Given the description of an element on the screen output the (x, y) to click on. 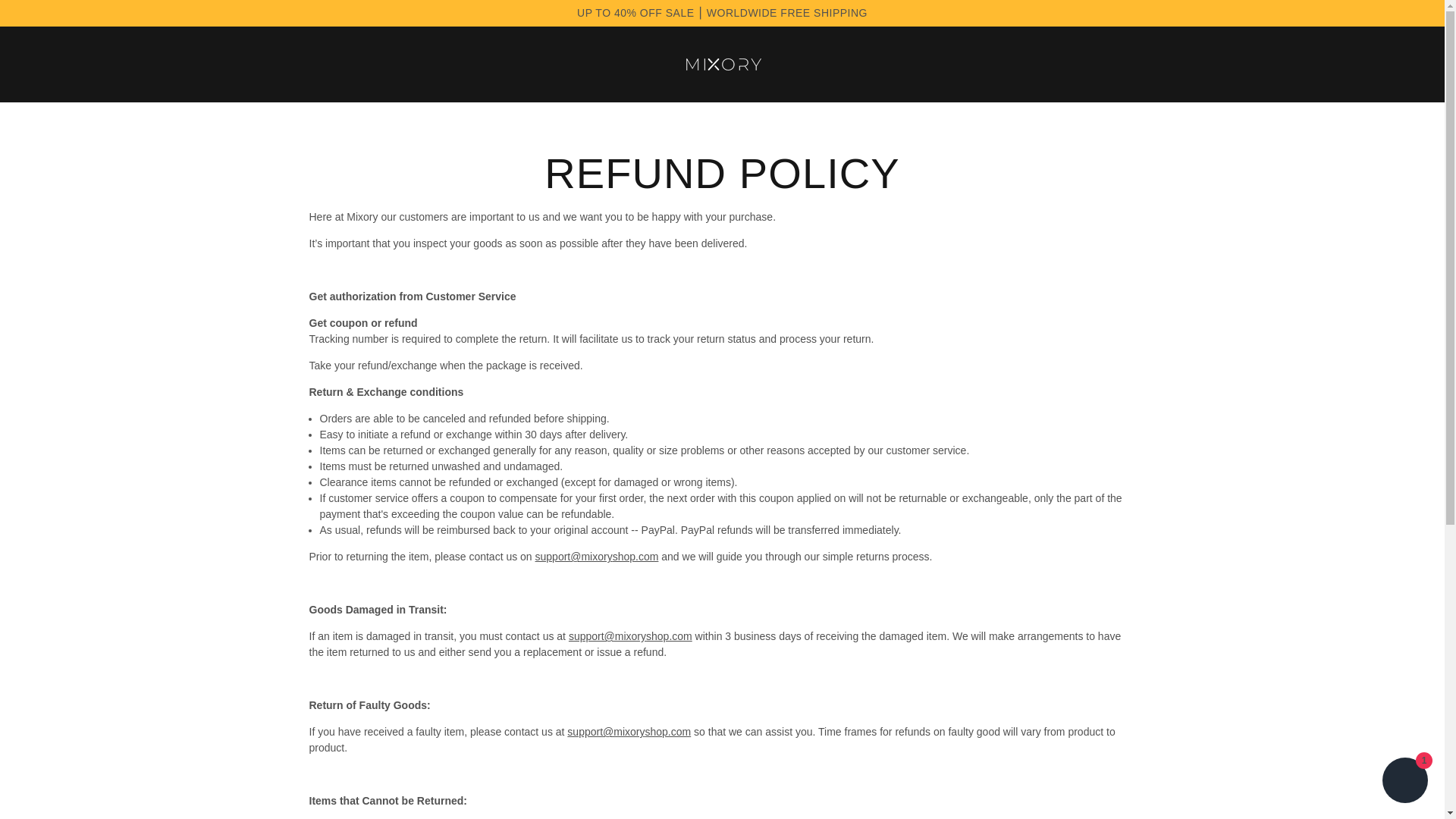
MENU (28, 63)
Shopify online store chat (1404, 781)
LOG IN (38, 63)
SEARCH (1405, 63)
CART (1416, 63)
